Given the description of an element on the screen output the (x, y) to click on. 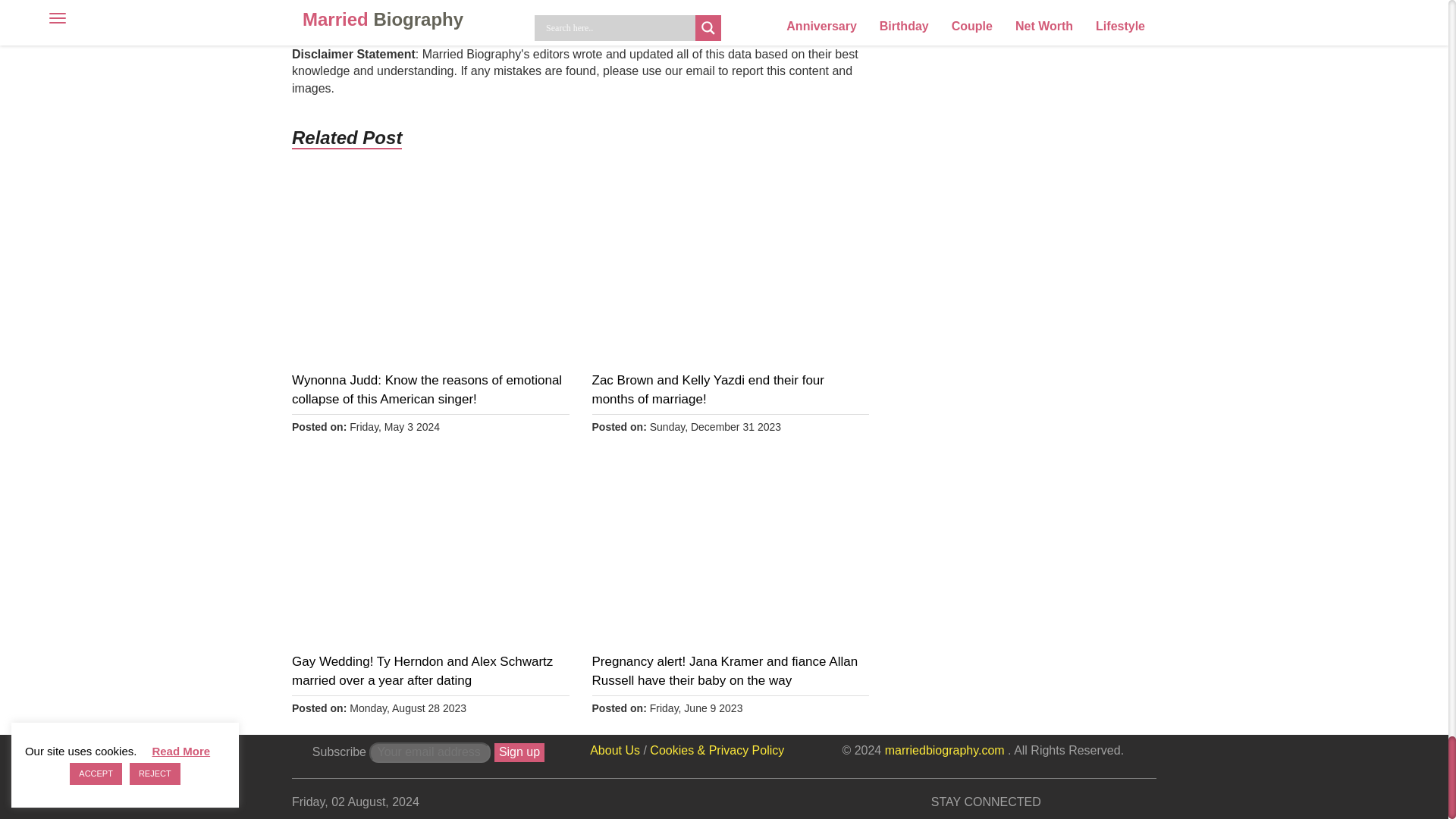
Sign up (519, 752)
